Given the description of an element on the screen output the (x, y) to click on. 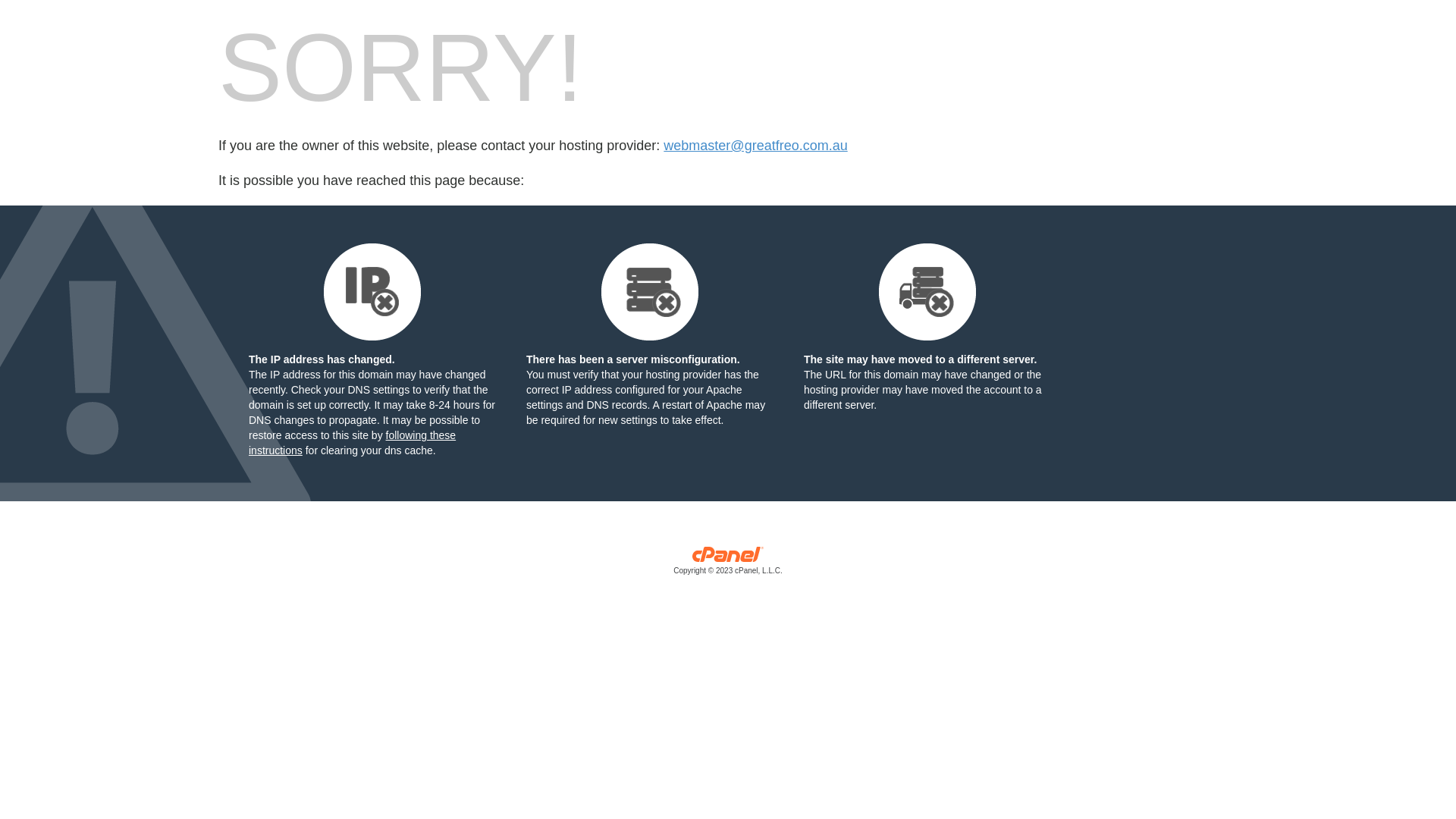
following these instructions Element type: text (351, 442)
webmaster@greatfreo.com.au Element type: text (755, 145)
